Given the description of an element on the screen output the (x, y) to click on. 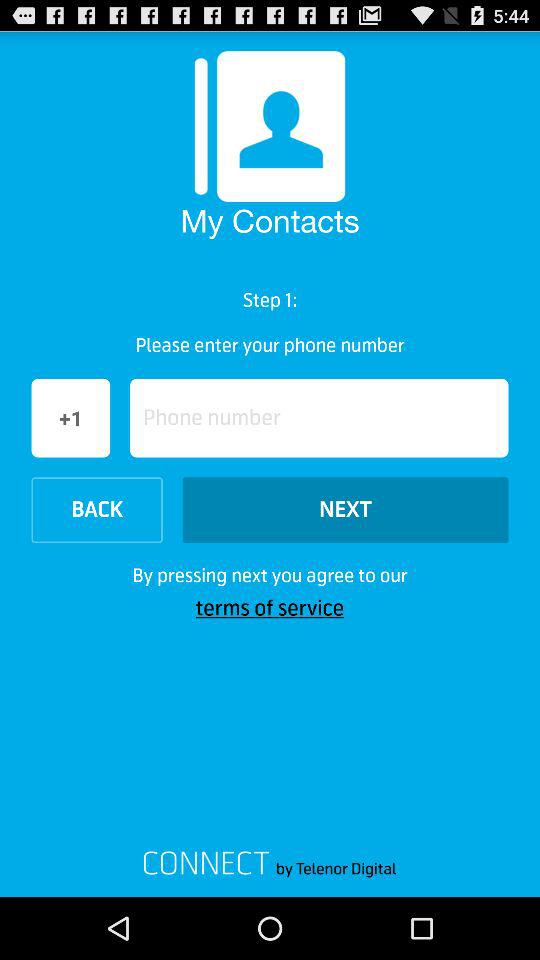
press button next to +1 button (319, 417)
